Given the description of an element on the screen output the (x, y) to click on. 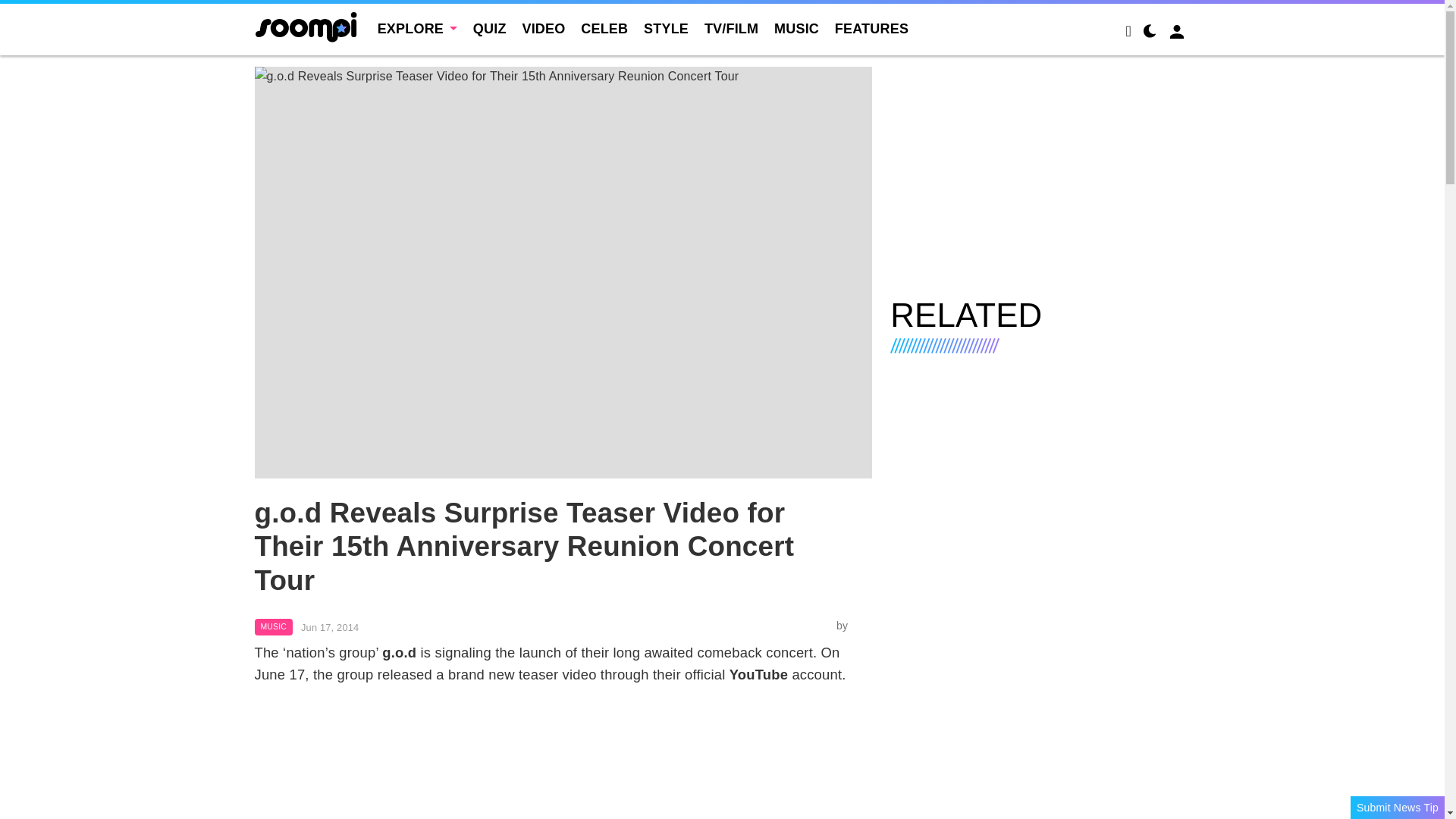
Music (273, 627)
FEATURES (871, 28)
MUSIC (796, 28)
MUSIC (273, 627)
VIDEO (542, 28)
STYLE (665, 28)
EXPLORE (417, 28)
Night Mode Toggle (1149, 33)
QUIZ (489, 28)
CELEB (603, 28)
